Given the description of an element on the screen output the (x, y) to click on. 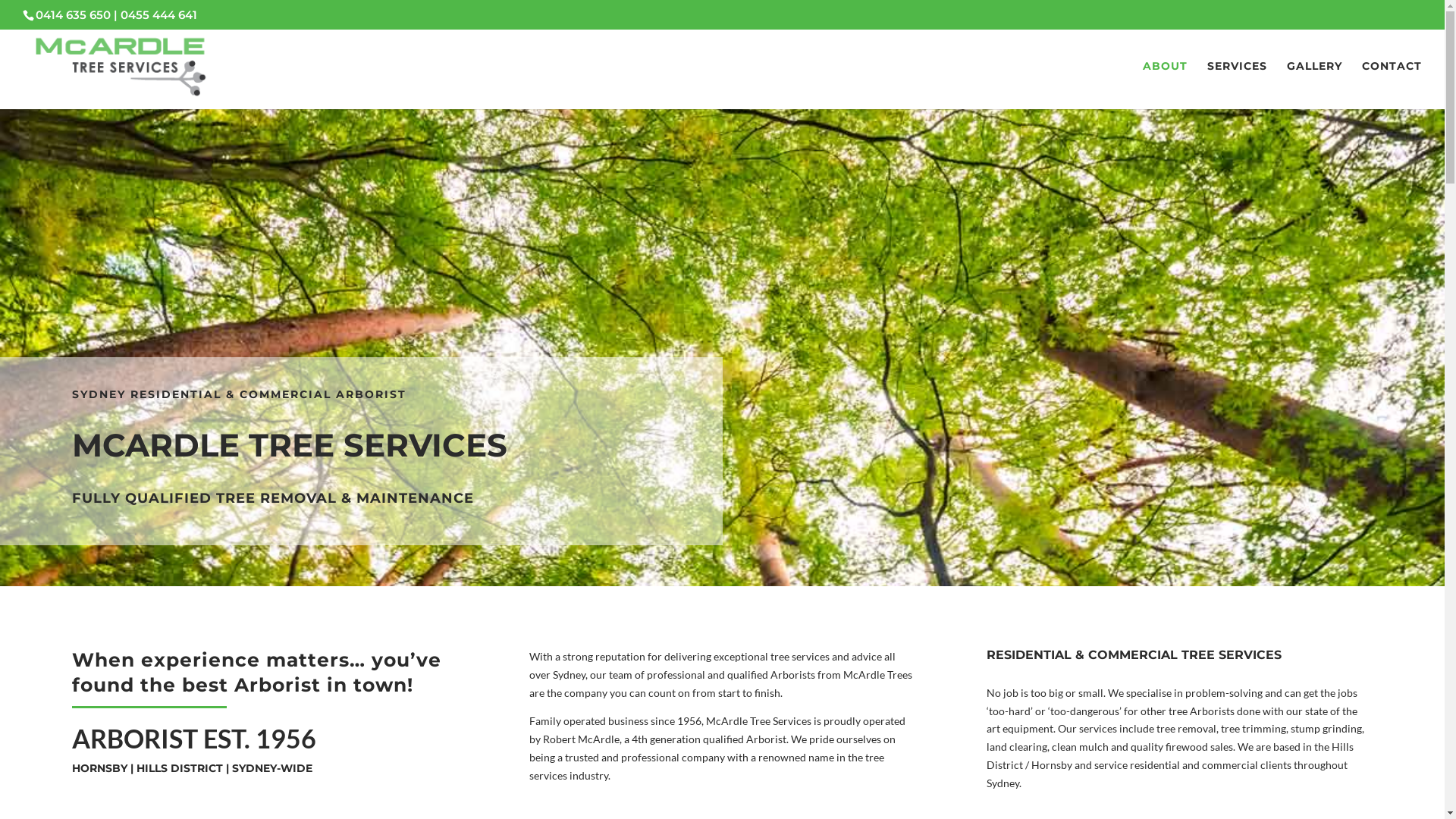
SERVICES Element type: text (1237, 84)
CONTACT Element type: text (1391, 84)
ABOUT Element type: text (1164, 84)
GALLERY Element type: text (1314, 84)
